Given the description of an element on the screen output the (x, y) to click on. 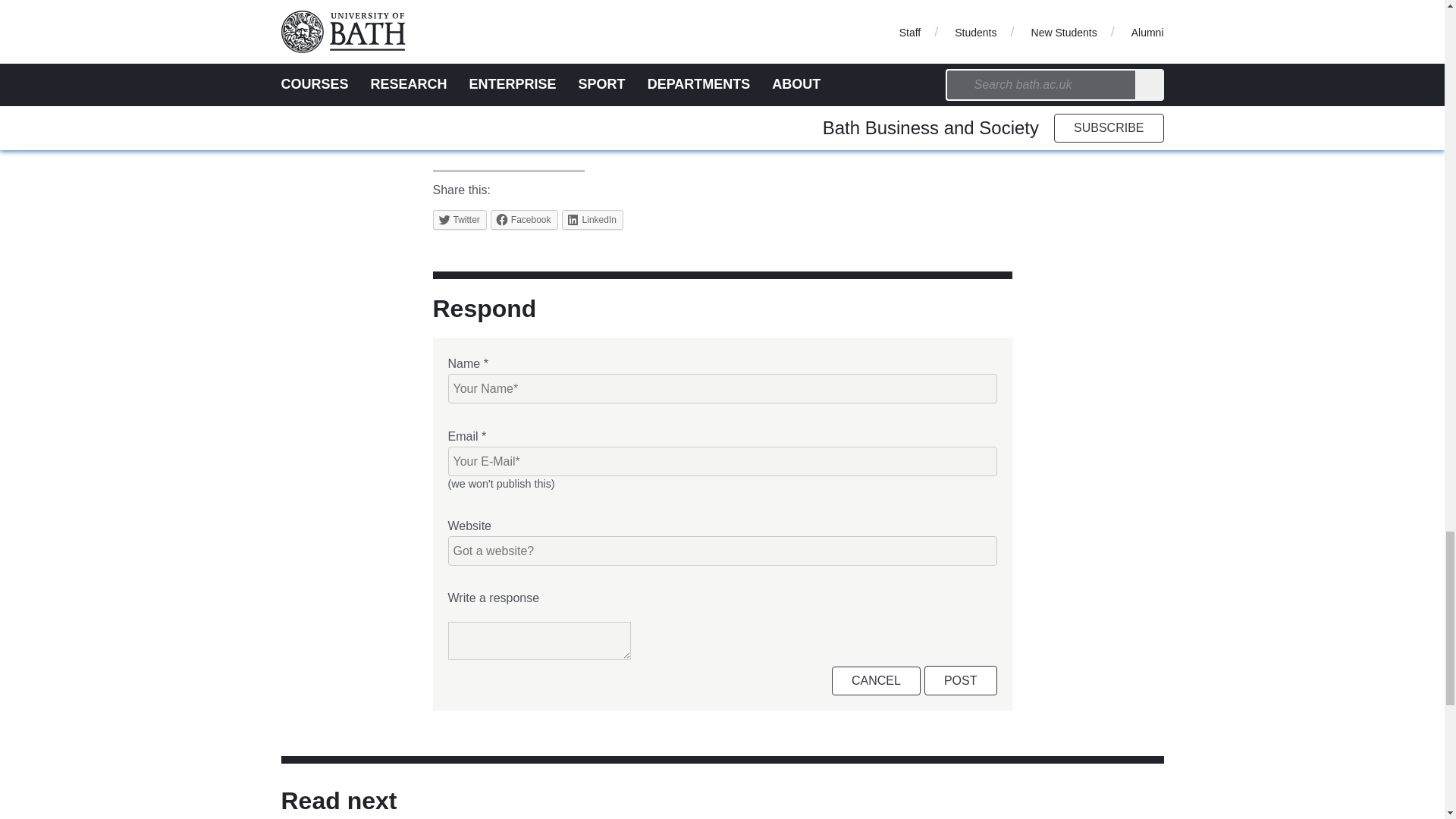
rawpixel (524, 66)
Research (648, 120)
Click to share on LinkedIn (592, 219)
Click to share on Facebook (523, 219)
Business and society (551, 120)
LinkedIn (592, 219)
Post (960, 680)
Sustainability (721, 120)
Facebook (523, 219)
Twitter (459, 219)
